Given the description of an element on the screen output the (x, y) to click on. 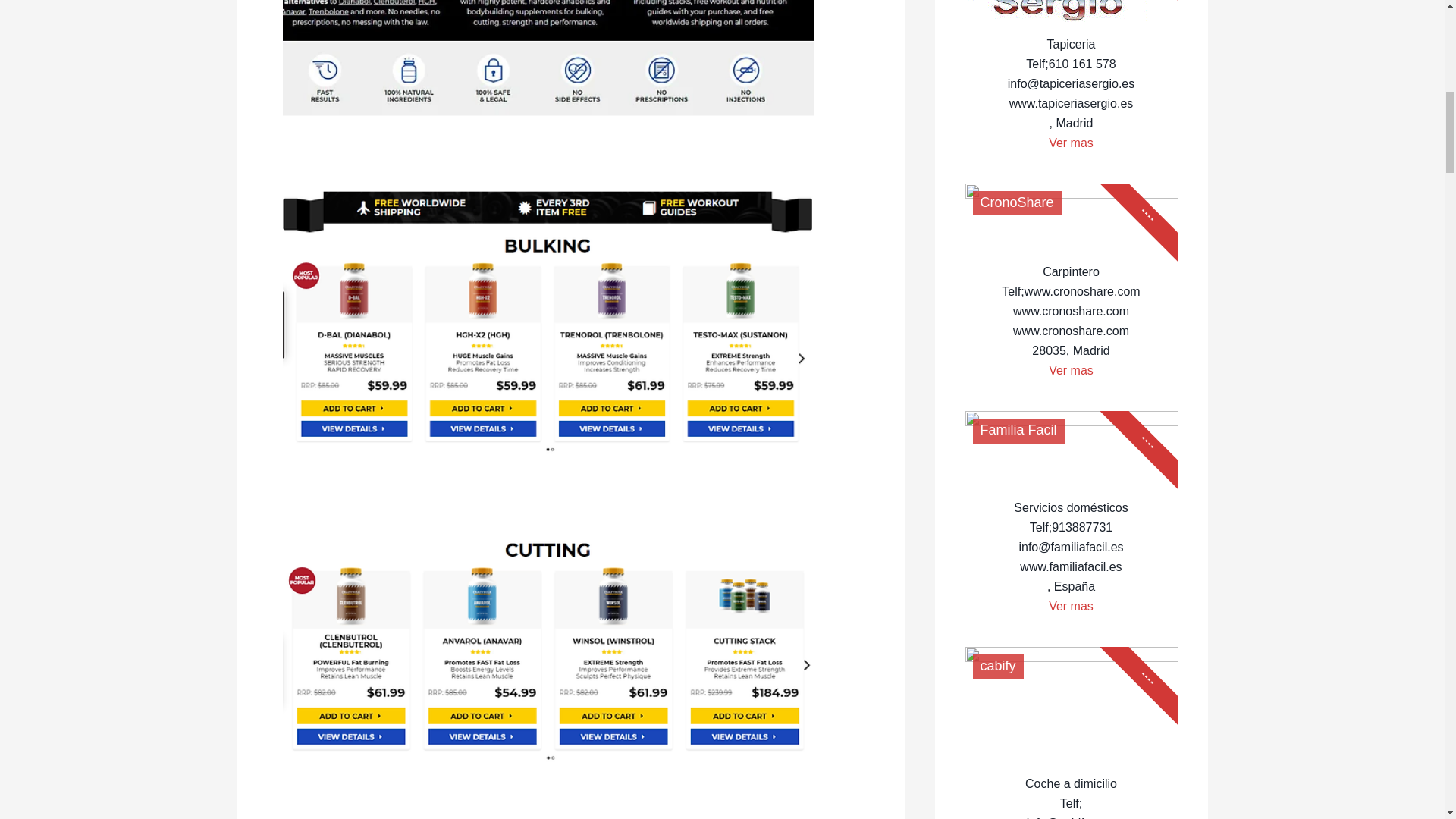
steroids anabolic alternatives for (547, 58)
anabolic steroids alternatives for (547, 647)
